Given the description of an element on the screen output the (x, y) to click on. 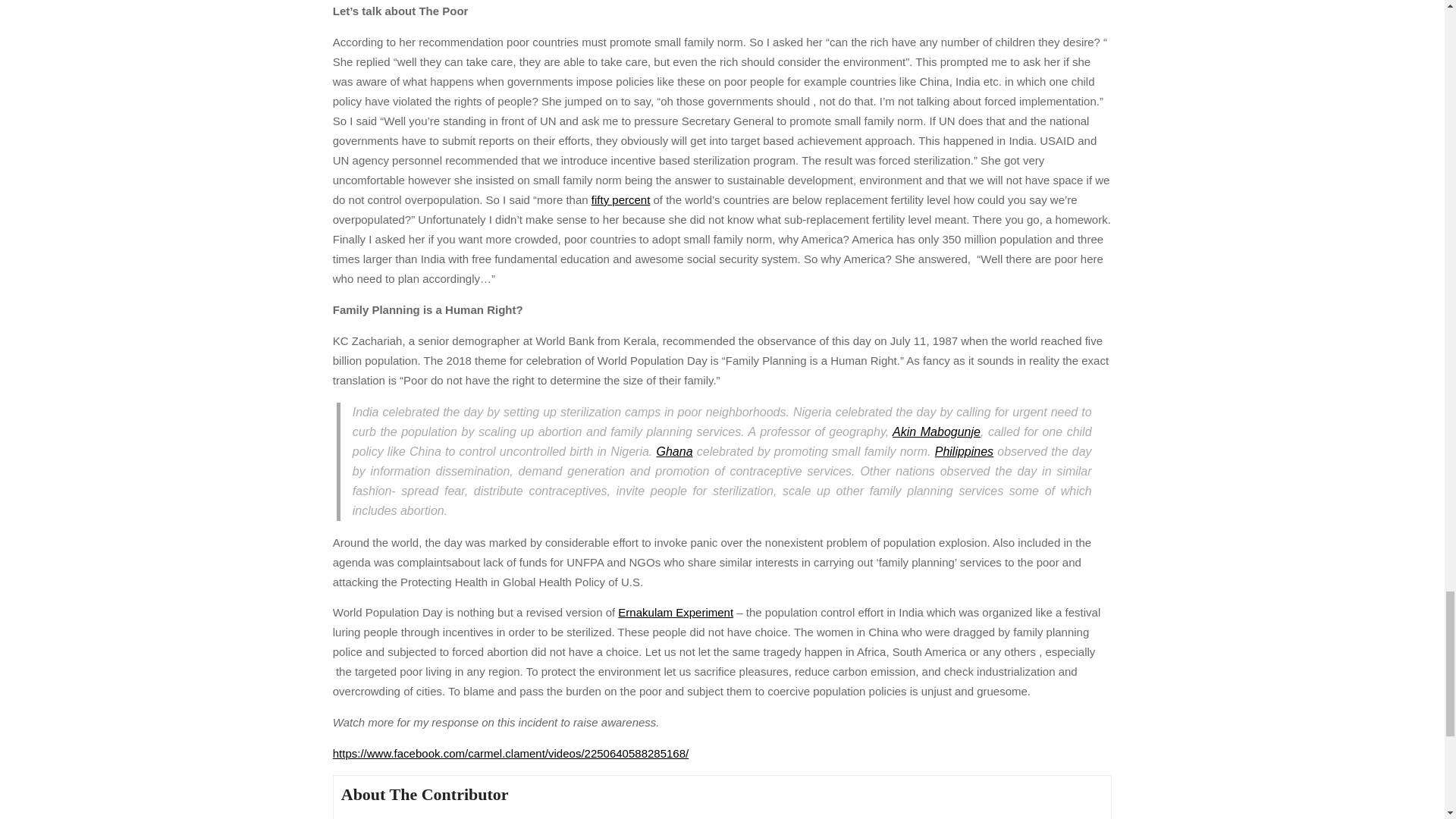
Ernakulam Experiment (675, 612)
fifty percent (620, 199)
Philippines (963, 451)
Akin Mabogunje (935, 431)
Ghana (674, 451)
